Given the description of an element on the screen output the (x, y) to click on. 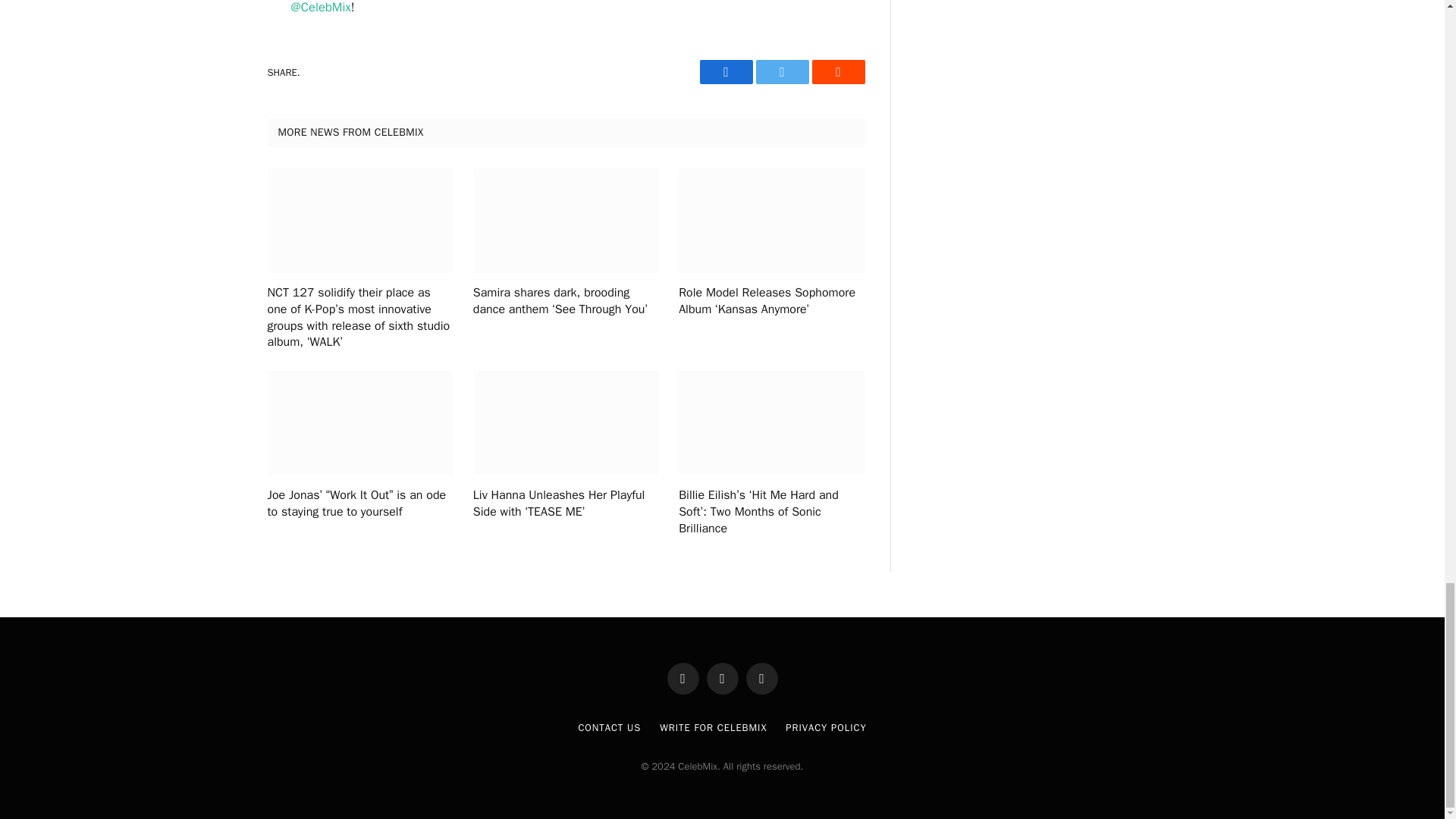
Reddit (837, 71)
Facebook (725, 71)
Twitter (781, 71)
